Given the description of an element on the screen output the (x, y) to click on. 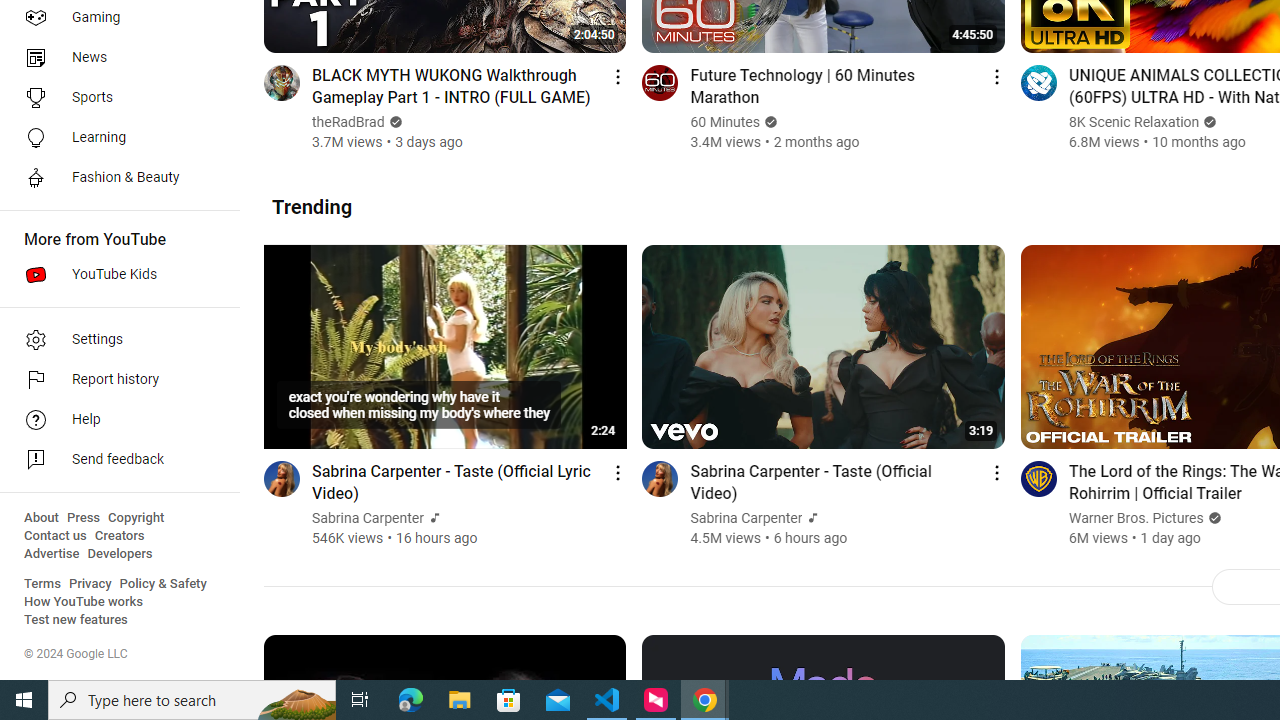
Warner Bros. Pictures (1136, 518)
Contact us (55, 536)
Action menu (996, 472)
Verified (1212, 518)
YouTube Kids (113, 274)
